Given the description of an element on the screen output the (x, y) to click on. 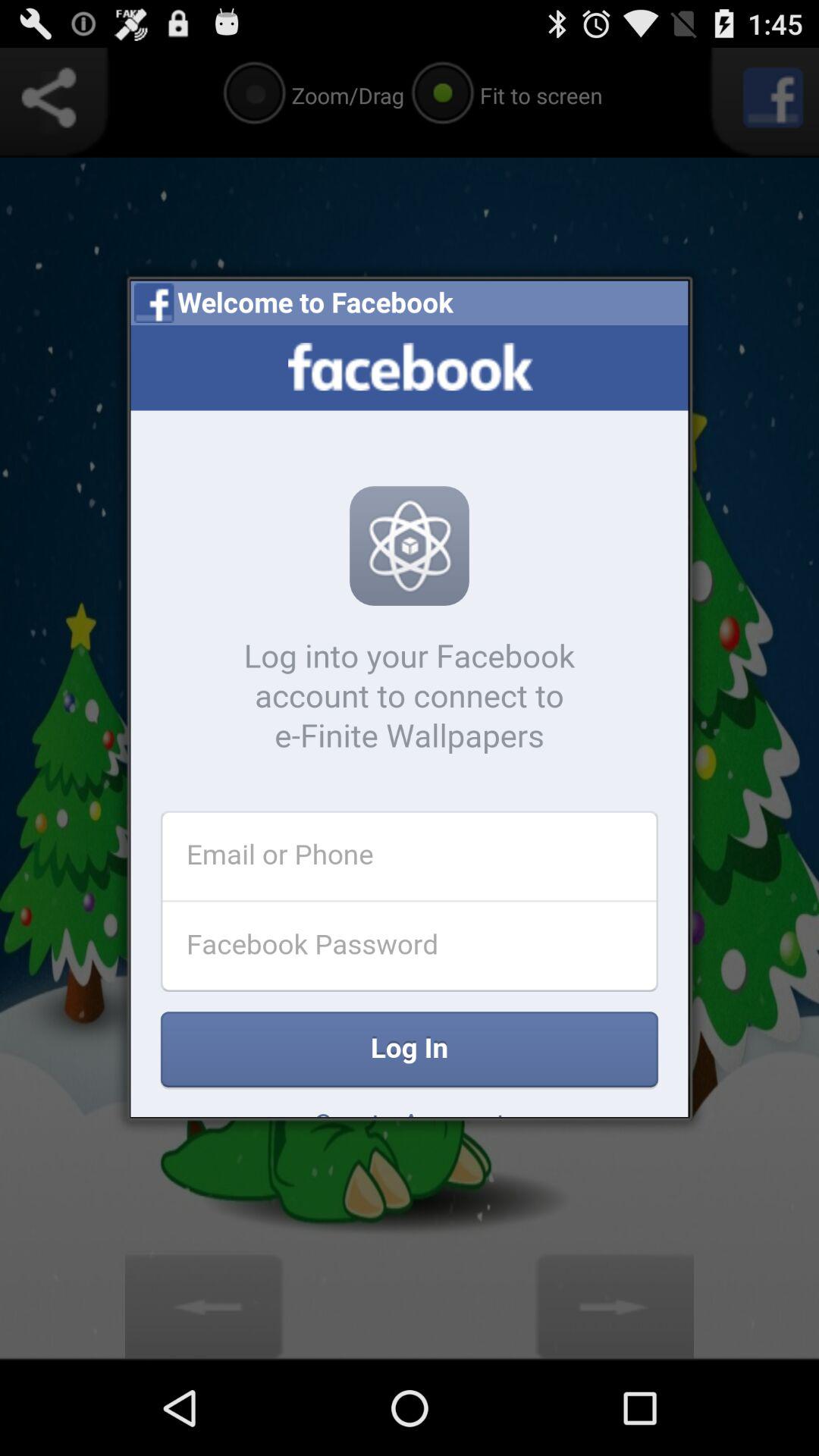
enter login (409, 721)
